Given the description of an element on the screen output the (x, y) to click on. 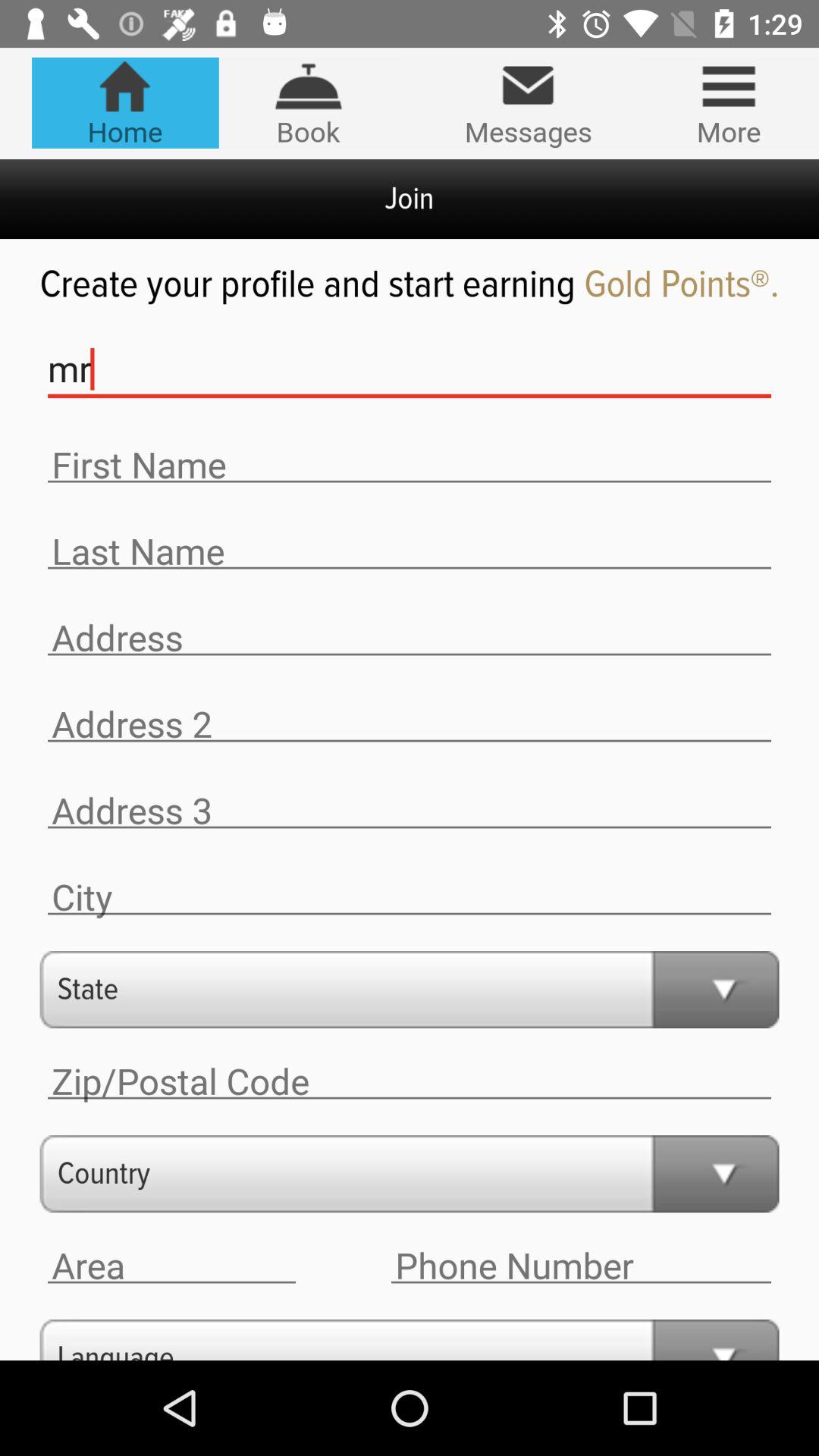
type your first name (409, 465)
